Given the description of an element on the screen output the (x, y) to click on. 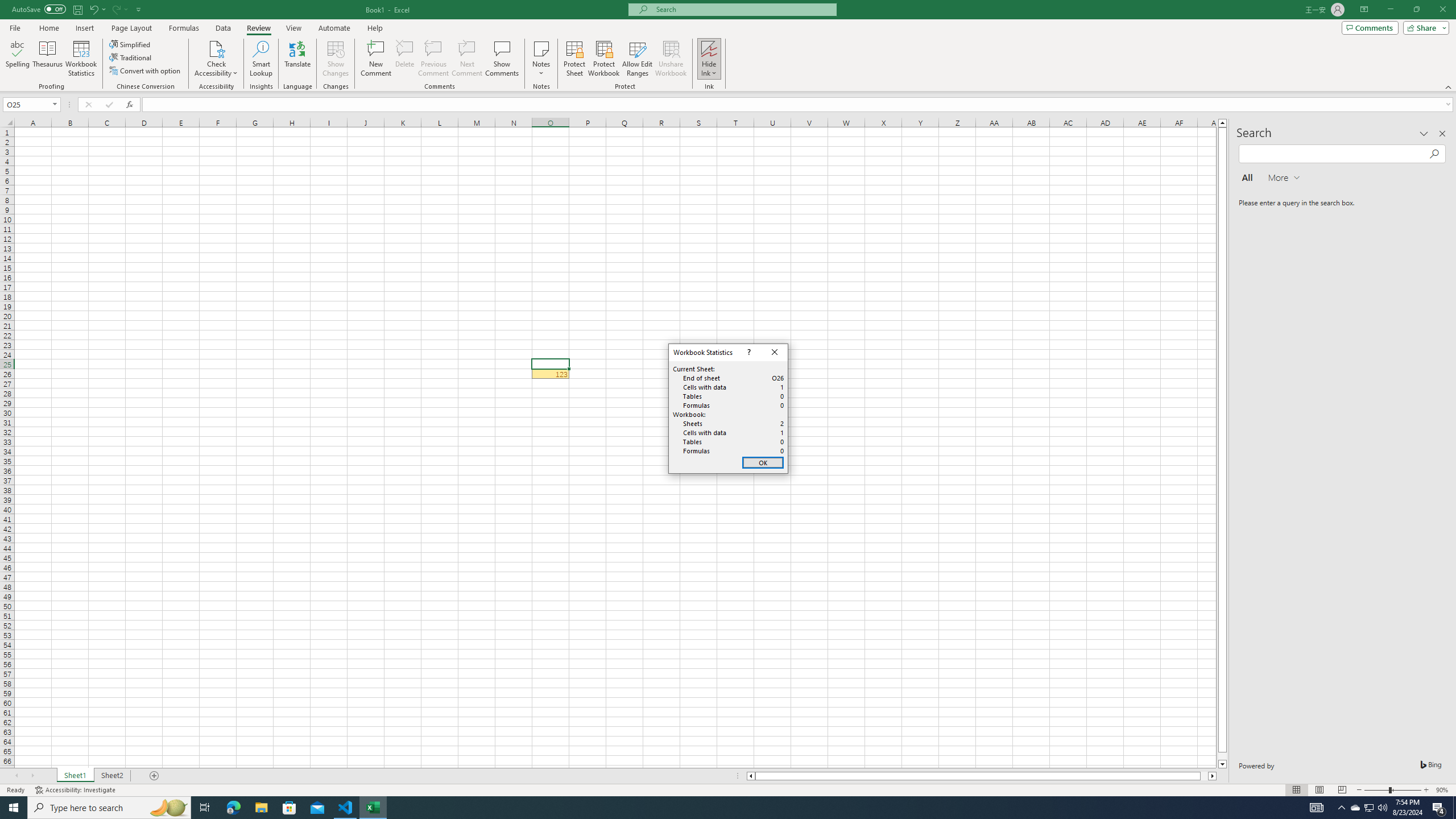
Allow Edit Ranges (637, 58)
Minimize (1390, 9)
OK (762, 462)
Page down (1355, 807)
Restore Down (1222, 756)
Home (1416, 9)
Check Accessibility (48, 28)
Type here to search (215, 58)
Traditional (108, 807)
Sheet1 (131, 56)
Line down (74, 775)
AutoSave (1222, 764)
Collapse the Ribbon (38, 9)
Add Sheet (1448, 86)
